Given the description of an element on the screen output the (x, y) to click on. 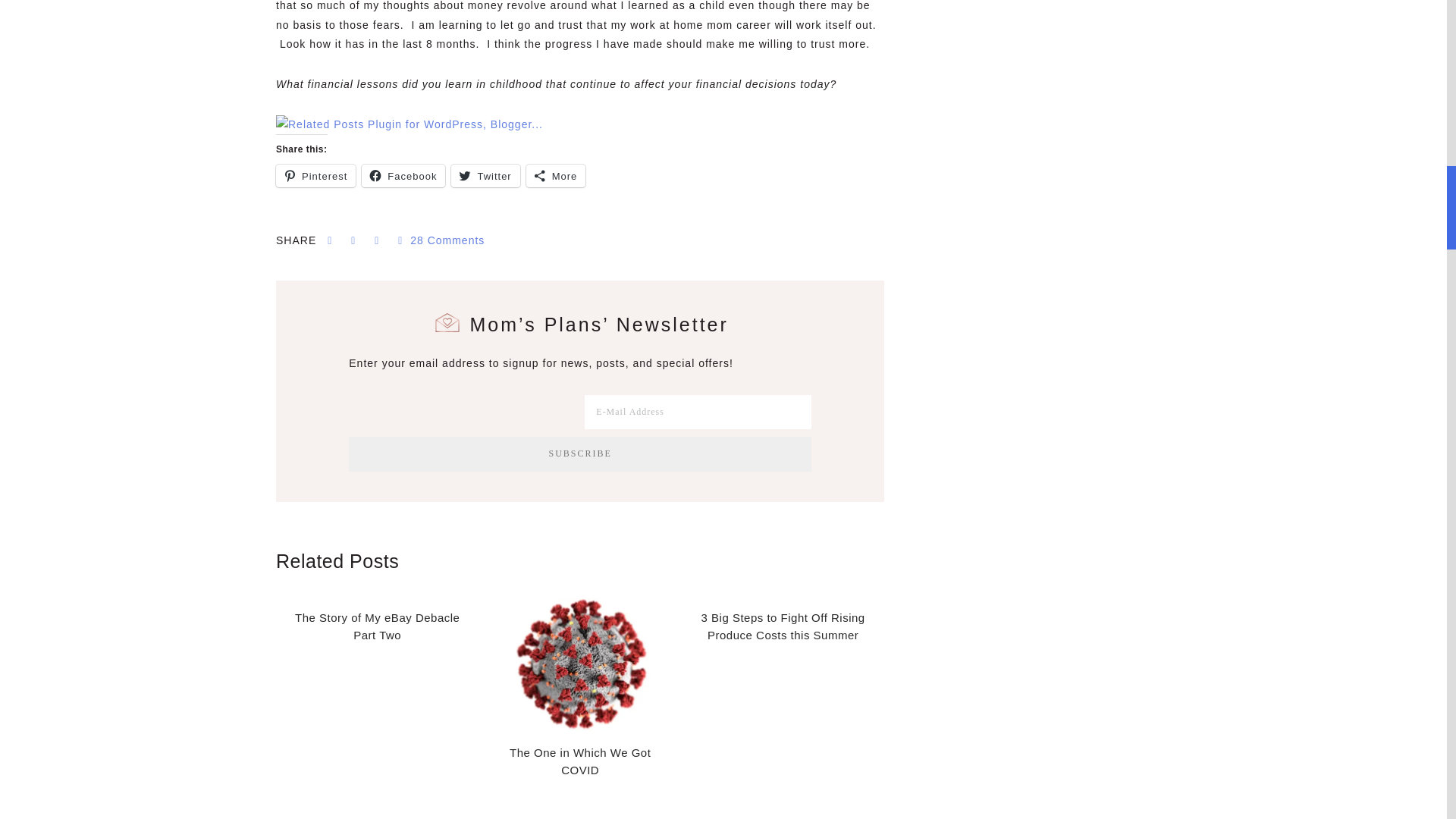
Subscribe (579, 453)
Click to share on Facebook (403, 175)
Click to share on Twitter (485, 175)
Click to share on Pinterest (315, 175)
Permanent Link to The Story of My eBay Debacle Part Two (376, 626)
